Given the description of an element on the screen output the (x, y) to click on. 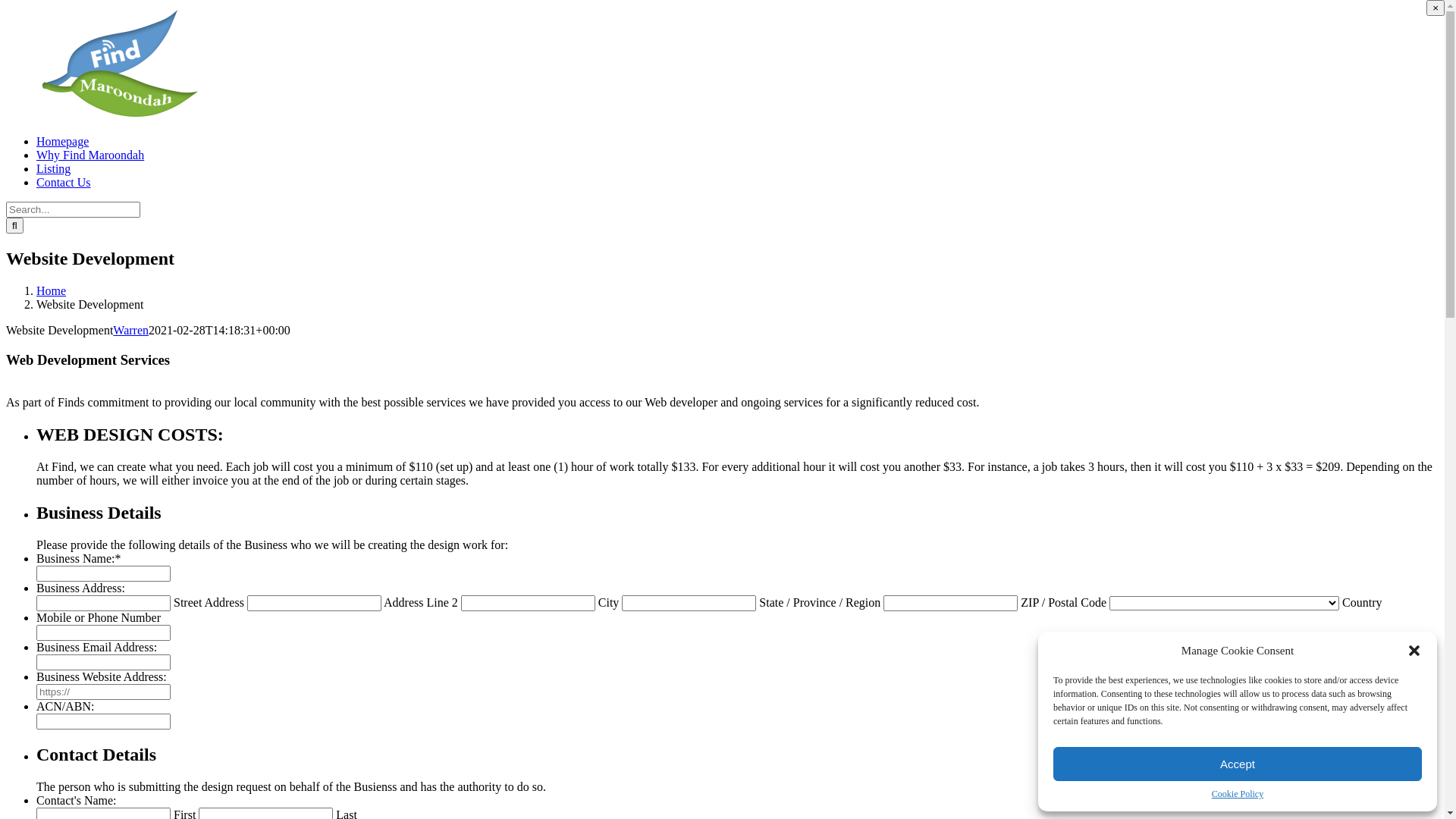
Why Find Maroondah Element type: text (90, 154)
Accept Element type: text (1237, 763)
Listing Element type: text (53, 168)
Warren Element type: text (130, 329)
Homepage Element type: text (62, 140)
Skip to content Element type: text (5, 5)
Cookie Policy Element type: text (1237, 794)
Home Element type: text (50, 290)
Contact Us Element type: text (63, 181)
